Given the description of an element on the screen output the (x, y) to click on. 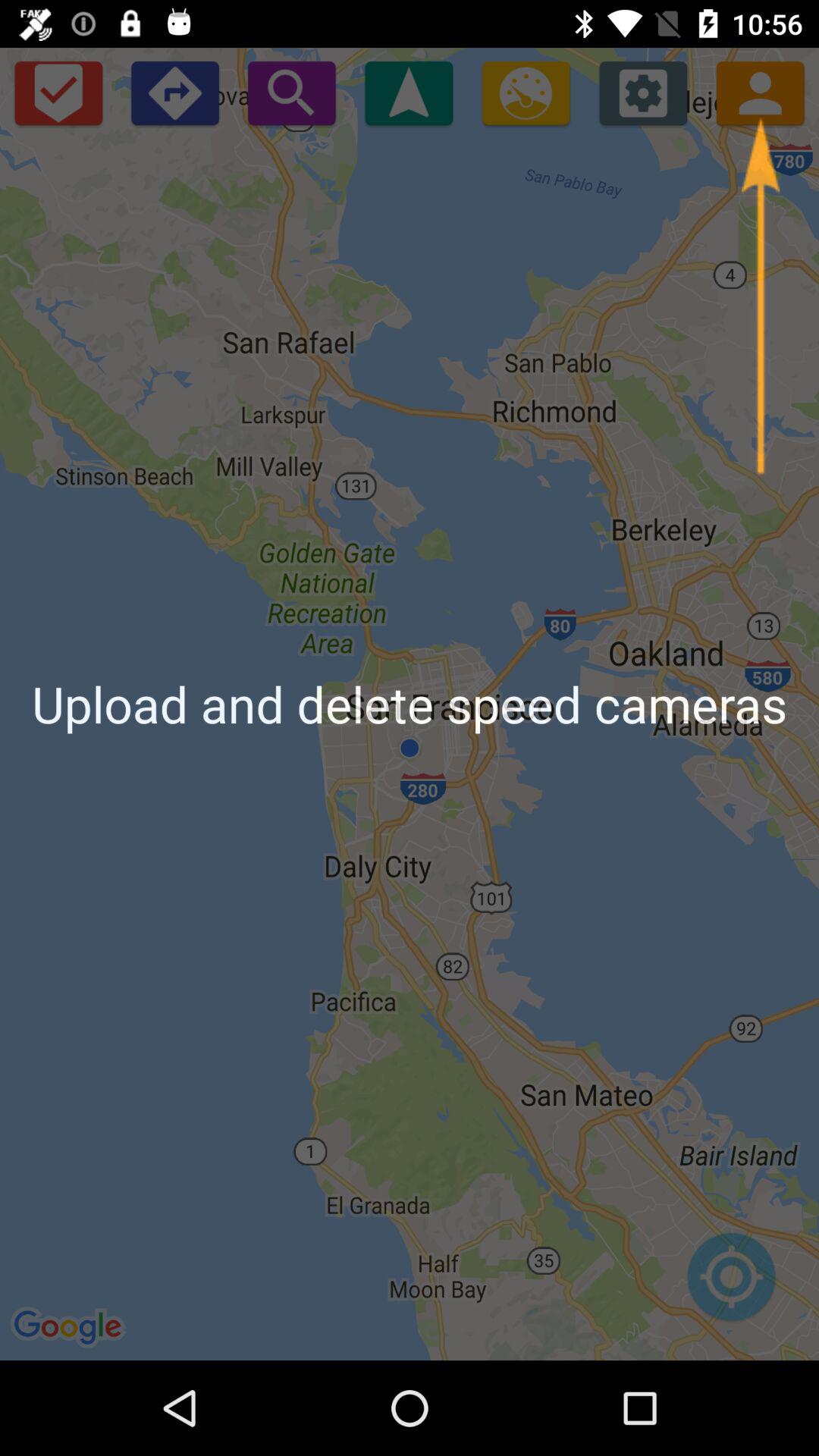
search a destination (291, 92)
